Given the description of an element on the screen output the (x, y) to click on. 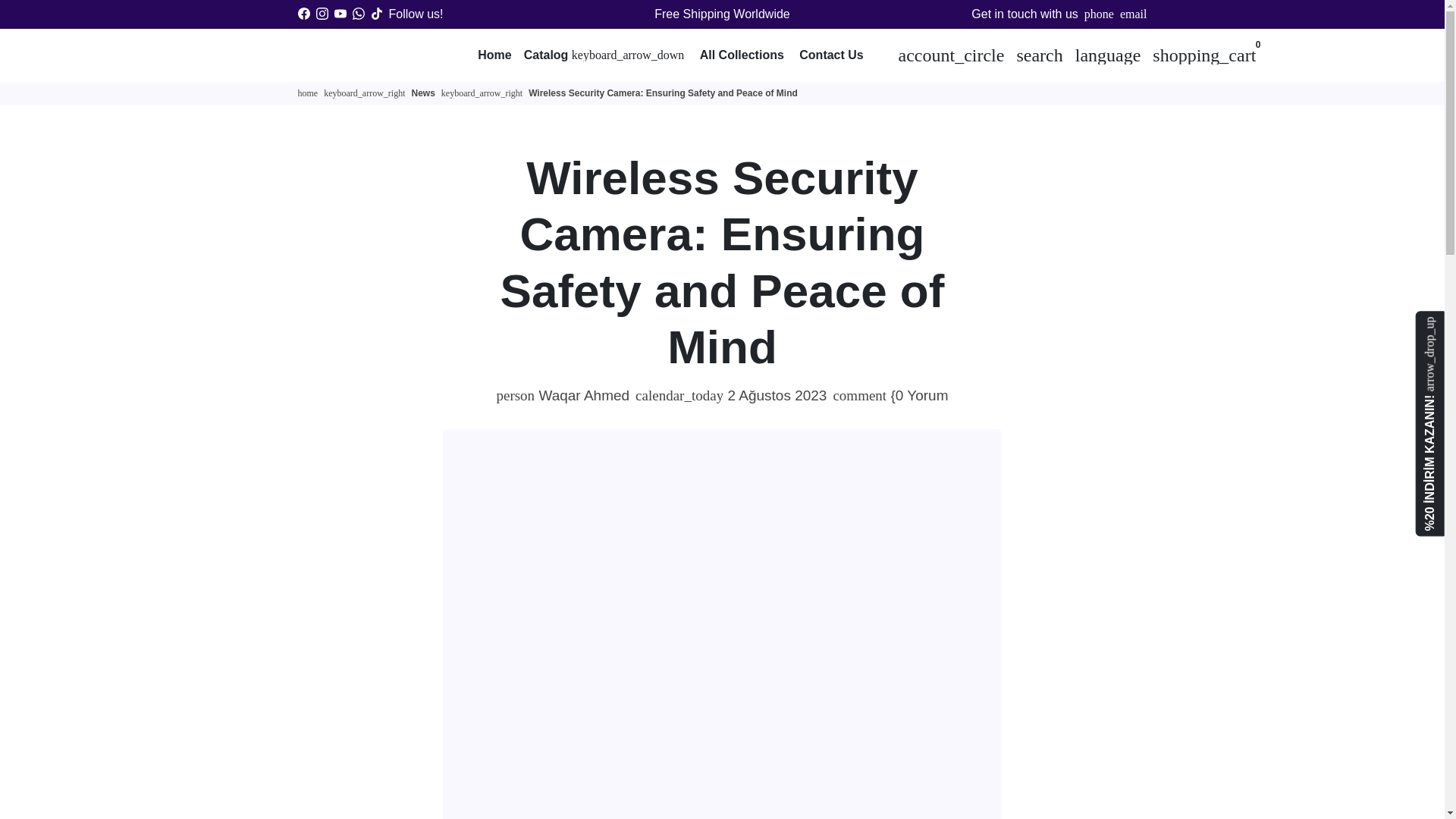
Facebook tarihinde WA Super Store (302, 13)
Youtube tarihinde WA Super Store (339, 13)
Whatsapp tarihinde WA Super Store (358, 13)
Tiktok tarihinde WA Super Store (375, 13)
Instagram tarihinde WA Super Store (321, 13)
